Given the description of an element on the screen output the (x, y) to click on. 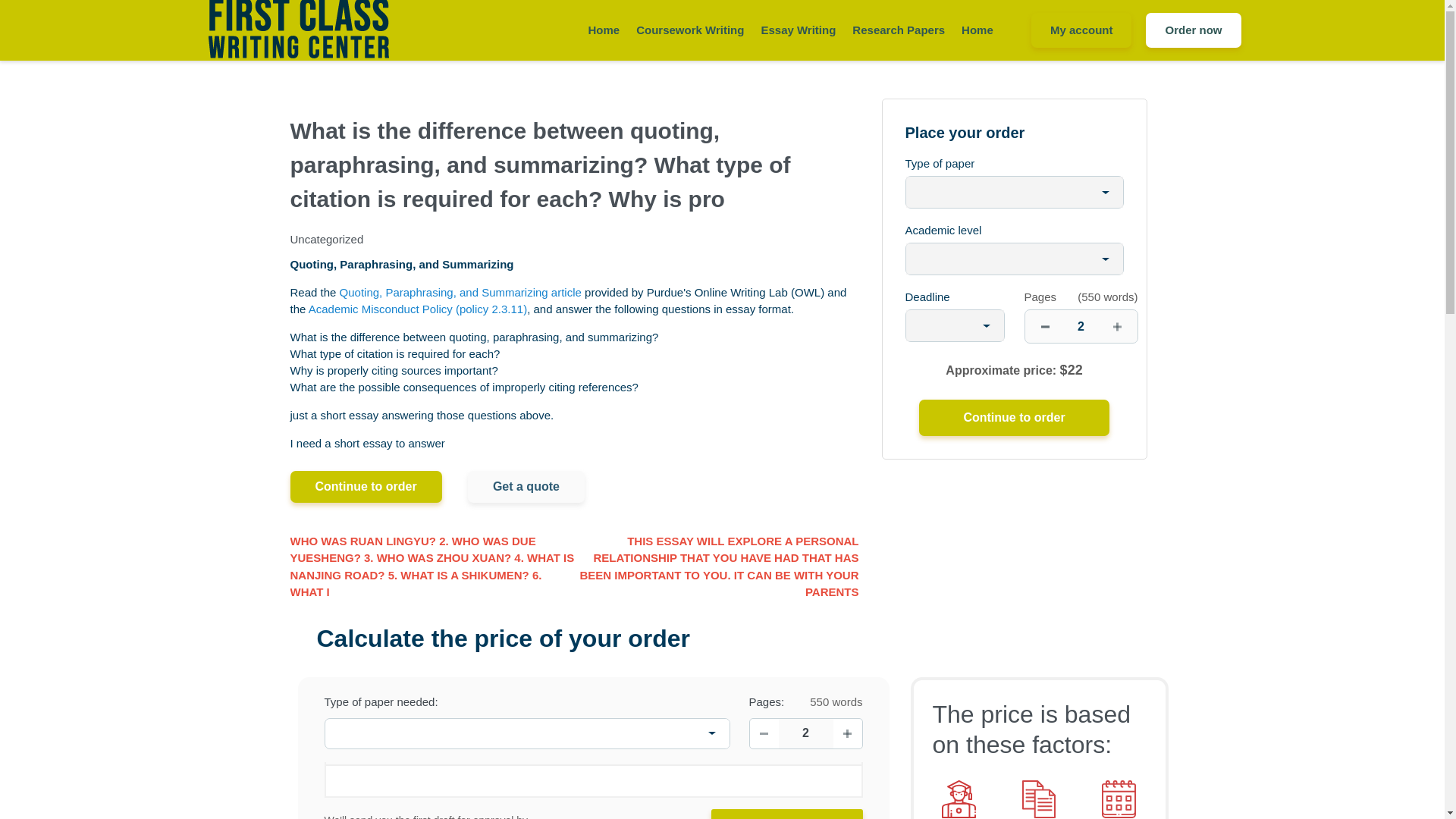
2 (1081, 326)
Continue to order (1013, 417)
Continue to order (787, 814)
Get a quote (526, 486)
Continue to order (365, 486)
Order now (1192, 30)
My account (1081, 30)
Decrease (763, 733)
Increase (846, 733)
Continue to Order (787, 814)
